Given the description of an element on the screen output the (x, y) to click on. 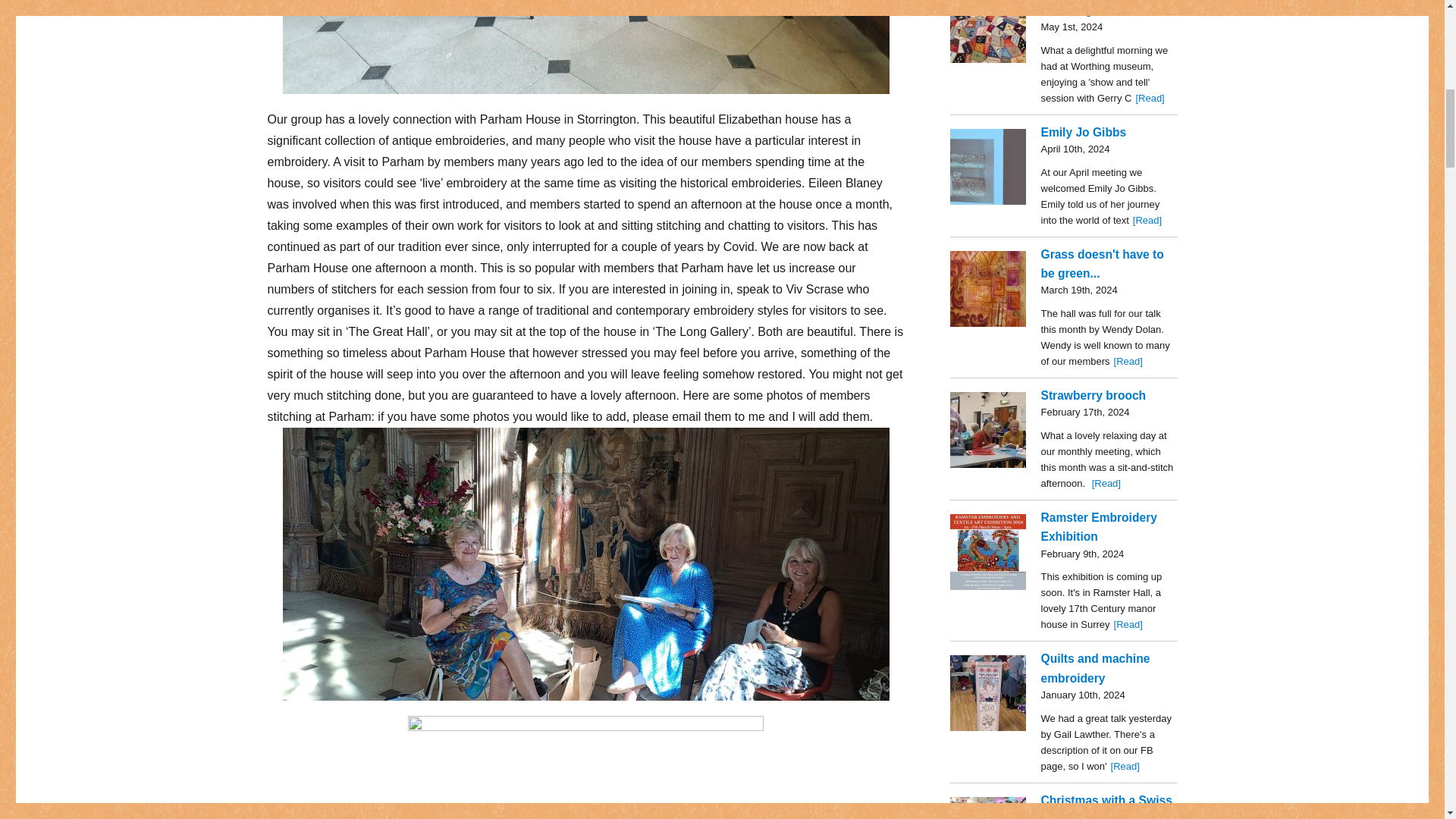
Textile treasures at Worthing museum (1094, 7)
Emily Jo Gibbs (987, 166)
Grass doesn't have to be green... (987, 288)
Emily Jo Gibbs (1083, 132)
Emily Jo Gibbs (1146, 220)
Textile treasures at Worthing museum (1149, 98)
Grass doesn't have to be green... (1102, 264)
Textile treasures at Worthing museum (987, 31)
